Given the description of an element on the screen output the (x, y) to click on. 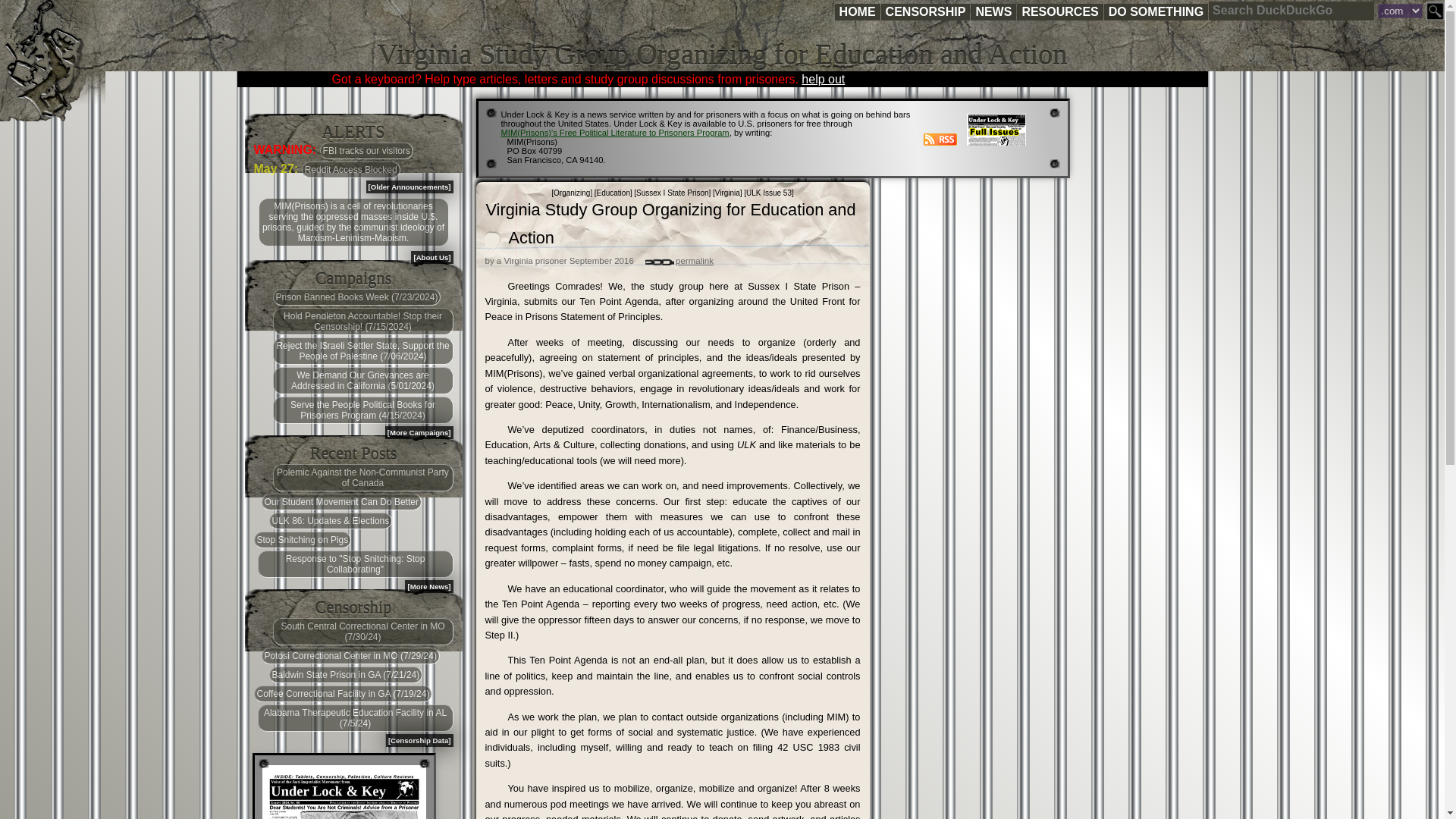
HOME (857, 12)
help out (823, 78)
Response to "Stop Snitching: Stop Collaborating" (354, 564)
Polemic Against the Non-Communist Party of Canada (362, 477)
CENSORSHIP (925, 12)
Stop Snitching on Pigs (301, 539)
RESOURCES (1059, 12)
FBI tracks our visitors (366, 150)
Download Latest Issue (344, 791)
Reddit Access Blocked (350, 169)
